Given the description of an element on the screen output the (x, y) to click on. 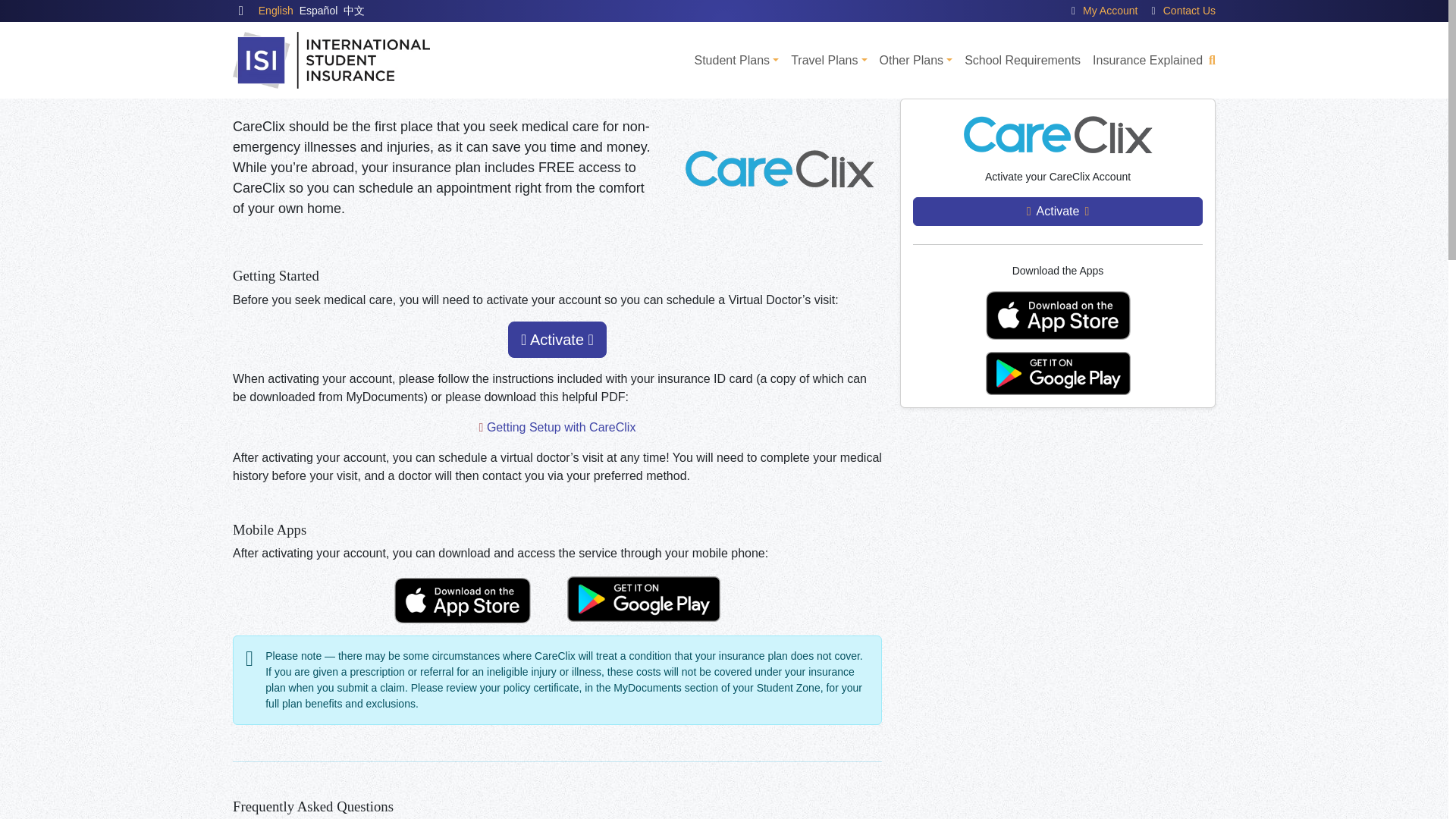
Contact Us (1189, 10)
Student Plans (735, 60)
School Requirements (1022, 60)
Travel Plans (828, 60)
English (276, 10)
Activate (557, 339)
Insurance Explained (1147, 60)
Getting Setup with CareClix (561, 427)
Other Plans (916, 60)
Activate (1057, 211)
